Given the description of an element on the screen output the (x, y) to click on. 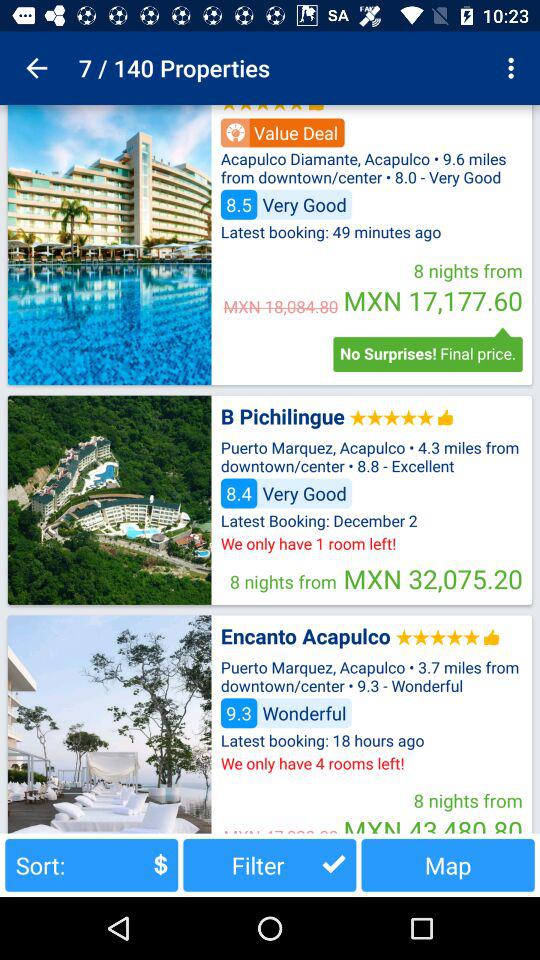
tap icon next to filter item (91, 864)
